Given the description of an element on the screen output the (x, y) to click on. 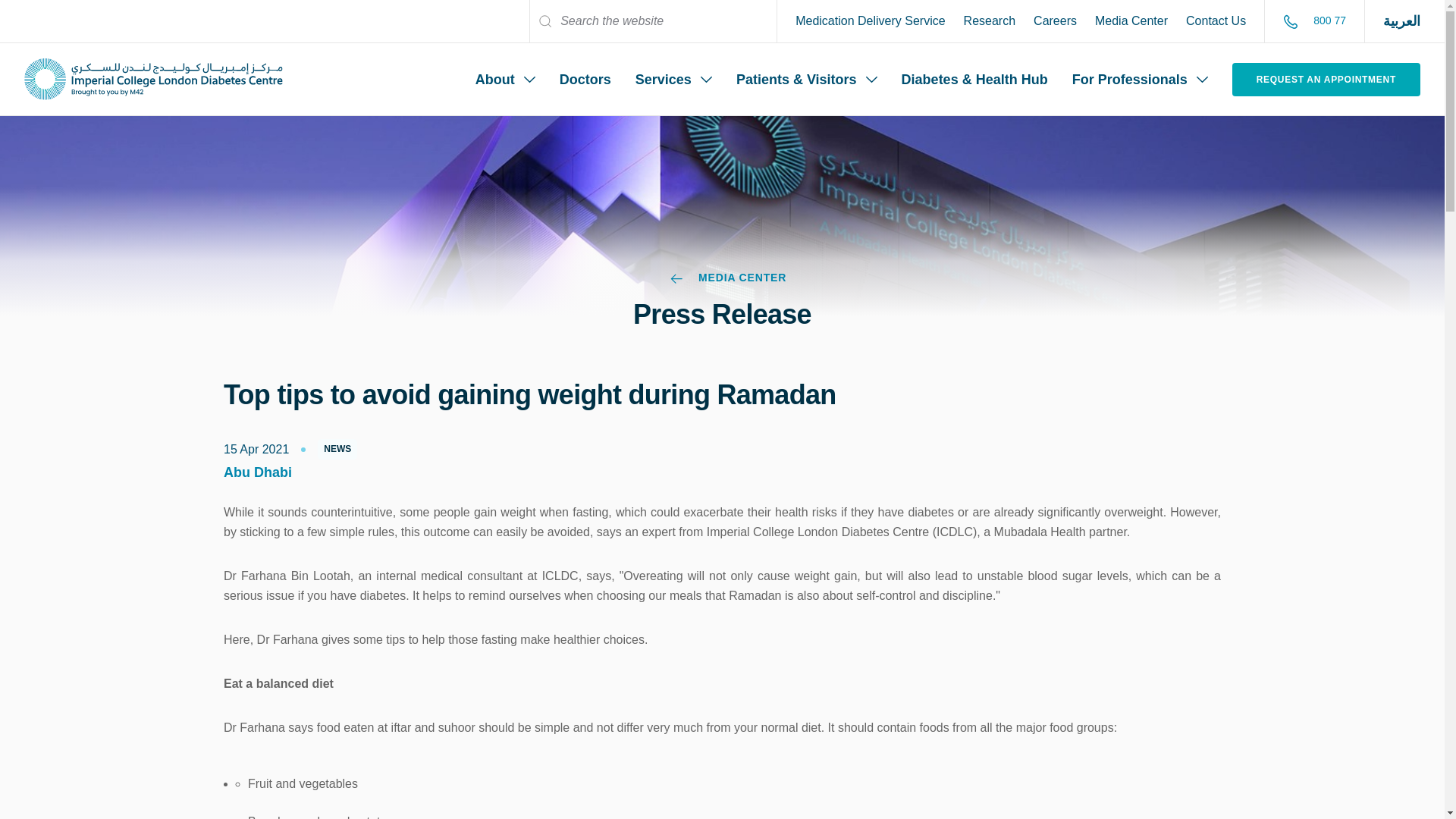
Media Center (1131, 21)
Services (673, 79)
Contact Us (1215, 21)
800 77 (1313, 20)
Doctors (585, 79)
Medication Delivery Service (869, 21)
About (505, 79)
Research (990, 21)
Careers (1055, 21)
